Given the description of an element on the screen output the (x, y) to click on. 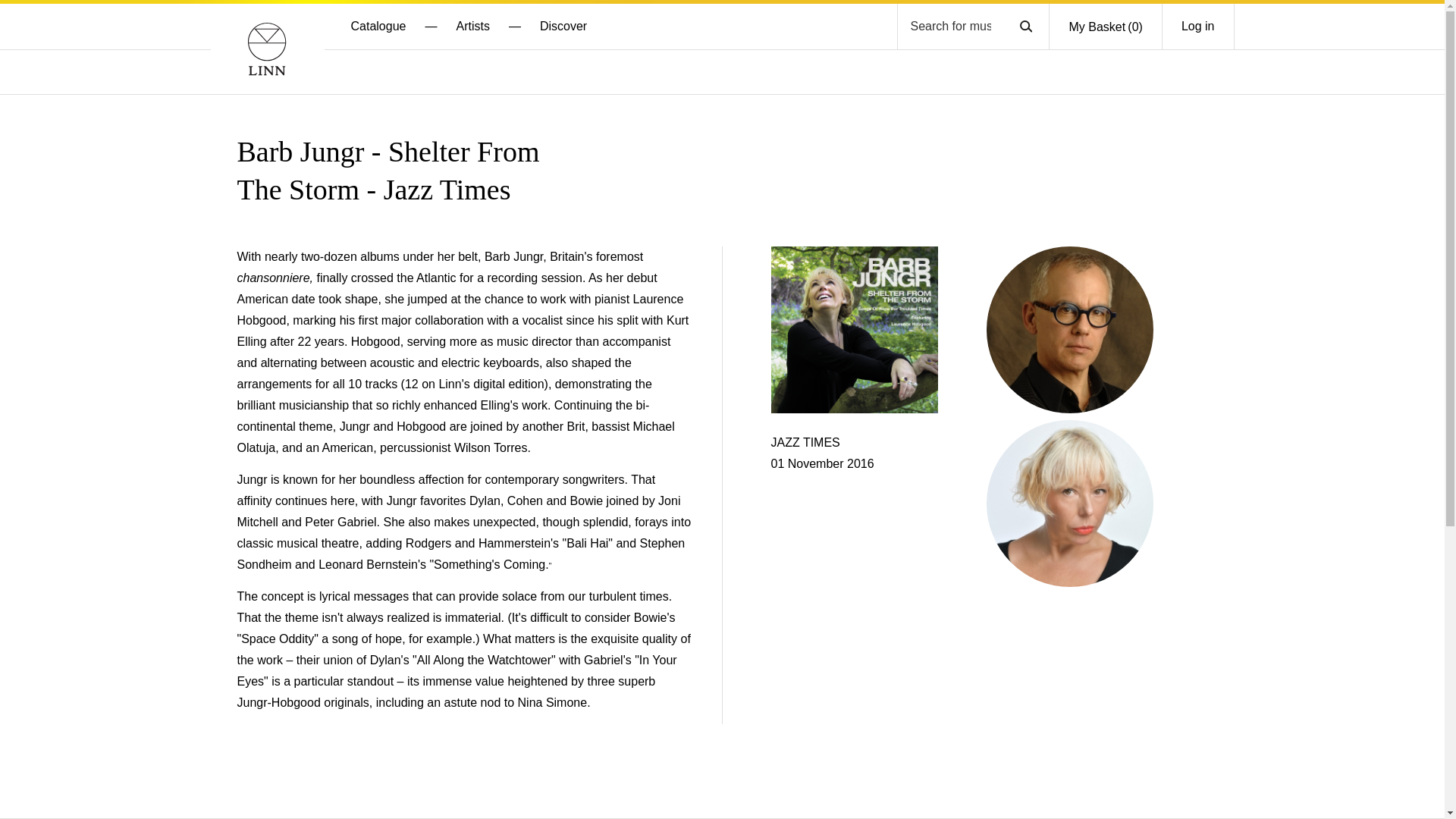
Search (1025, 26)
Artists (472, 25)
Discover (563, 25)
Search (1025, 26)
Log in (1197, 26)
Catalogue (378, 25)
My Basket0 (1104, 27)
